Given the description of an element on the screen output the (x, y) to click on. 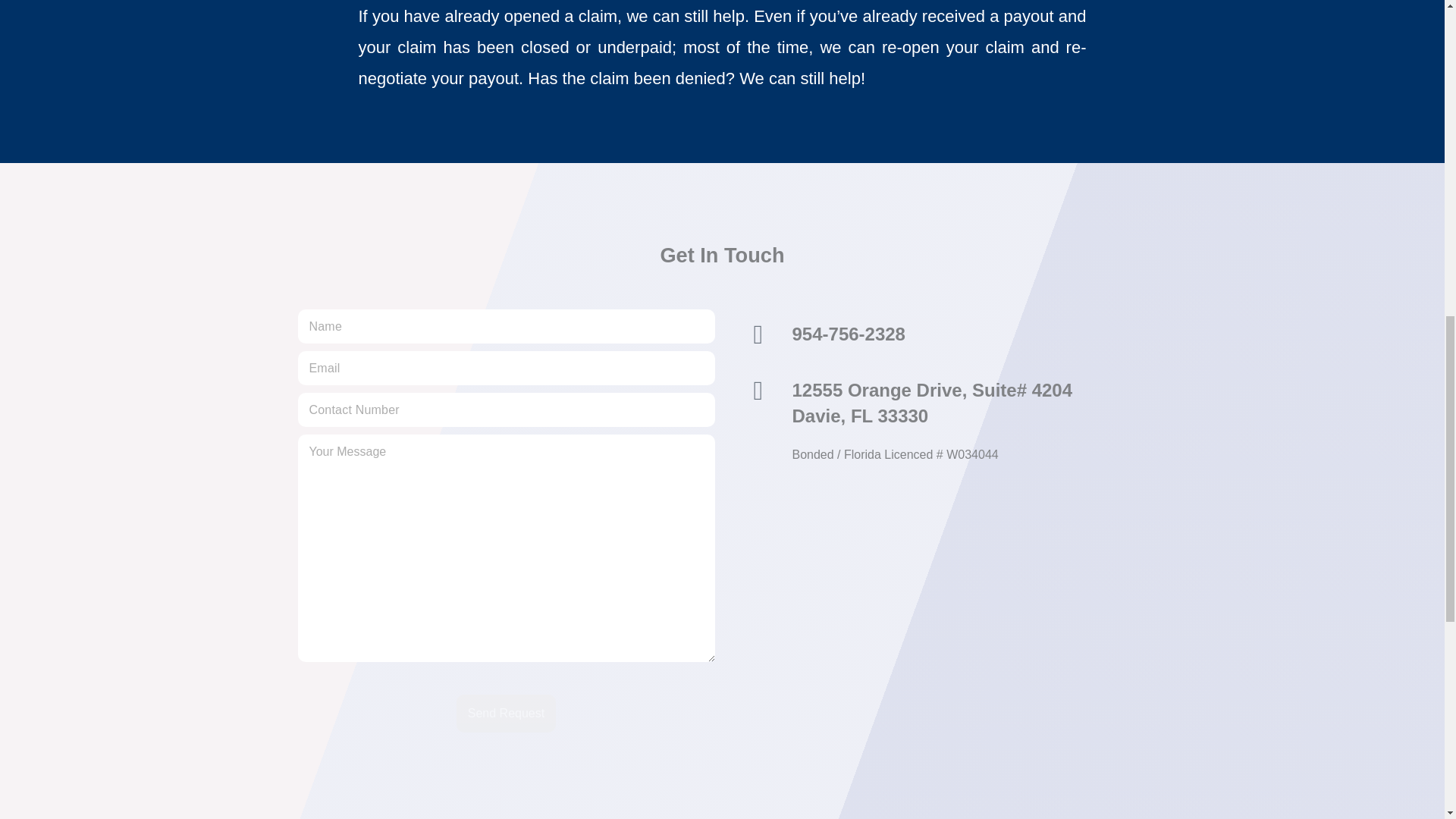
Send Request (506, 713)
